Given the description of an element on the screen output the (x, y) to click on. 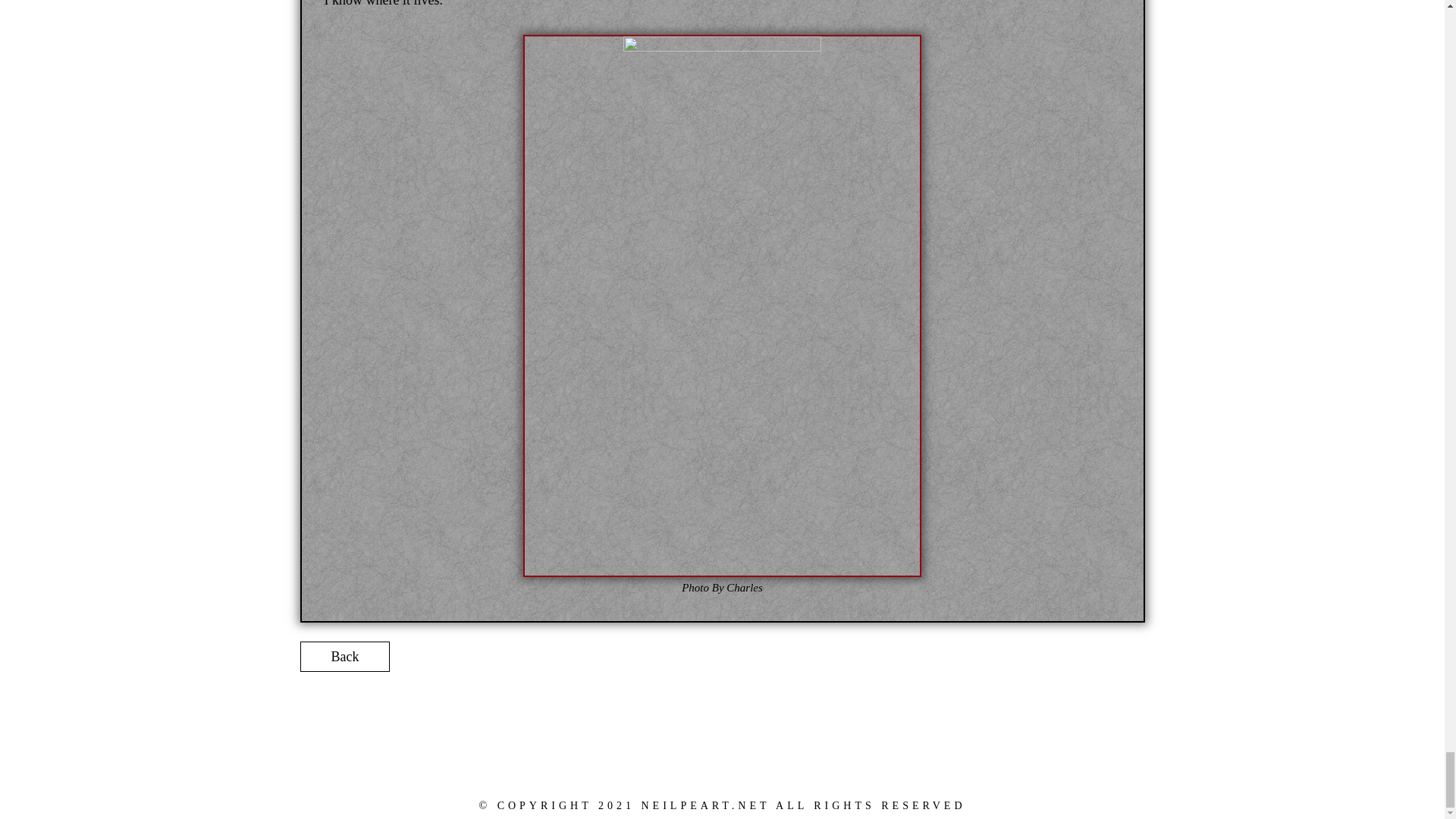
Back (344, 656)
